Given the description of an element on the screen output the (x, y) to click on. 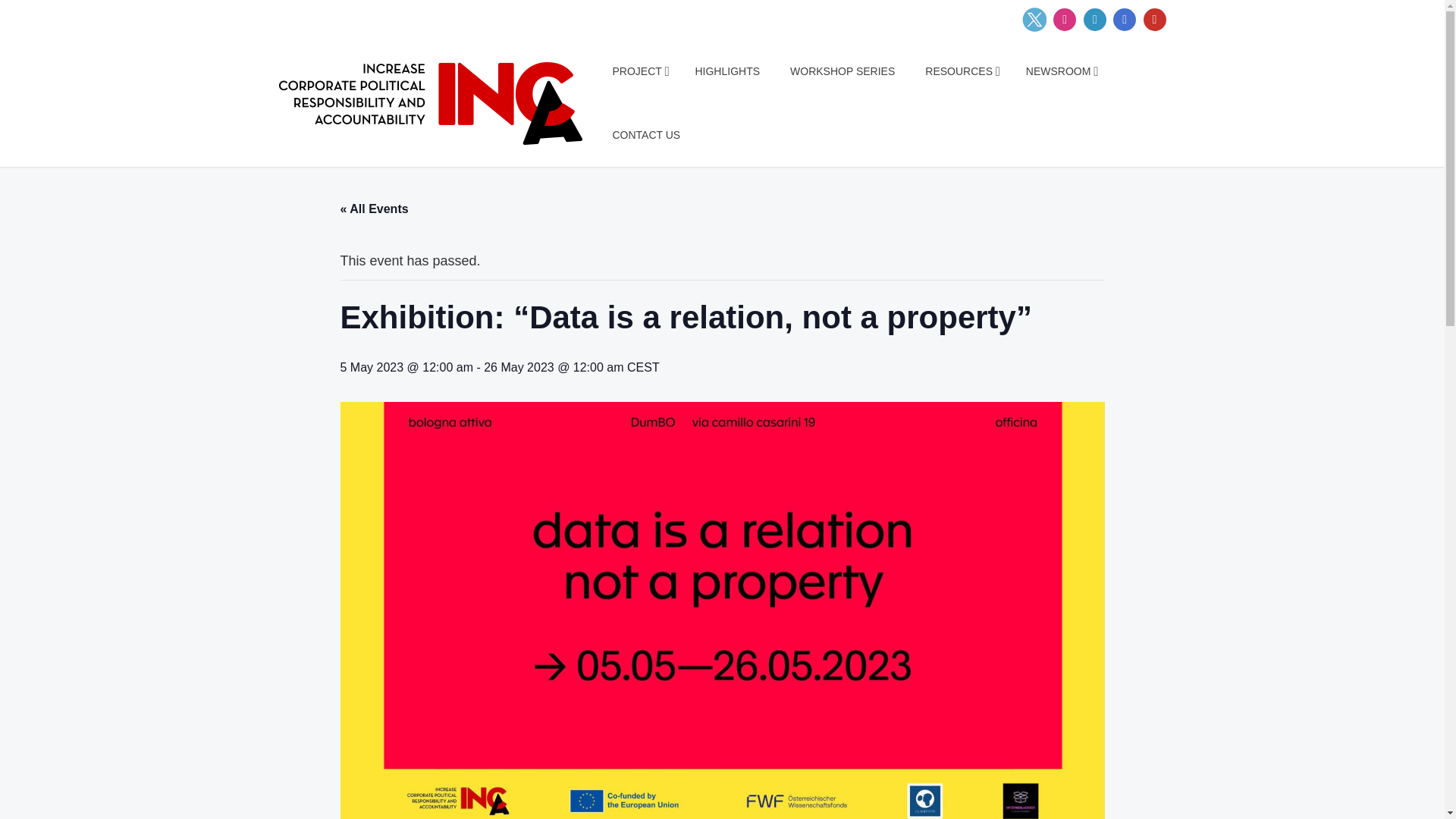
CONTACT US (646, 135)
WORKSHOP SERIES (842, 71)
RESOURCES (959, 71)
HIGHLIGHTS (727, 71)
NEWSROOM (1059, 71)
